Given the description of an element on the screen output the (x, y) to click on. 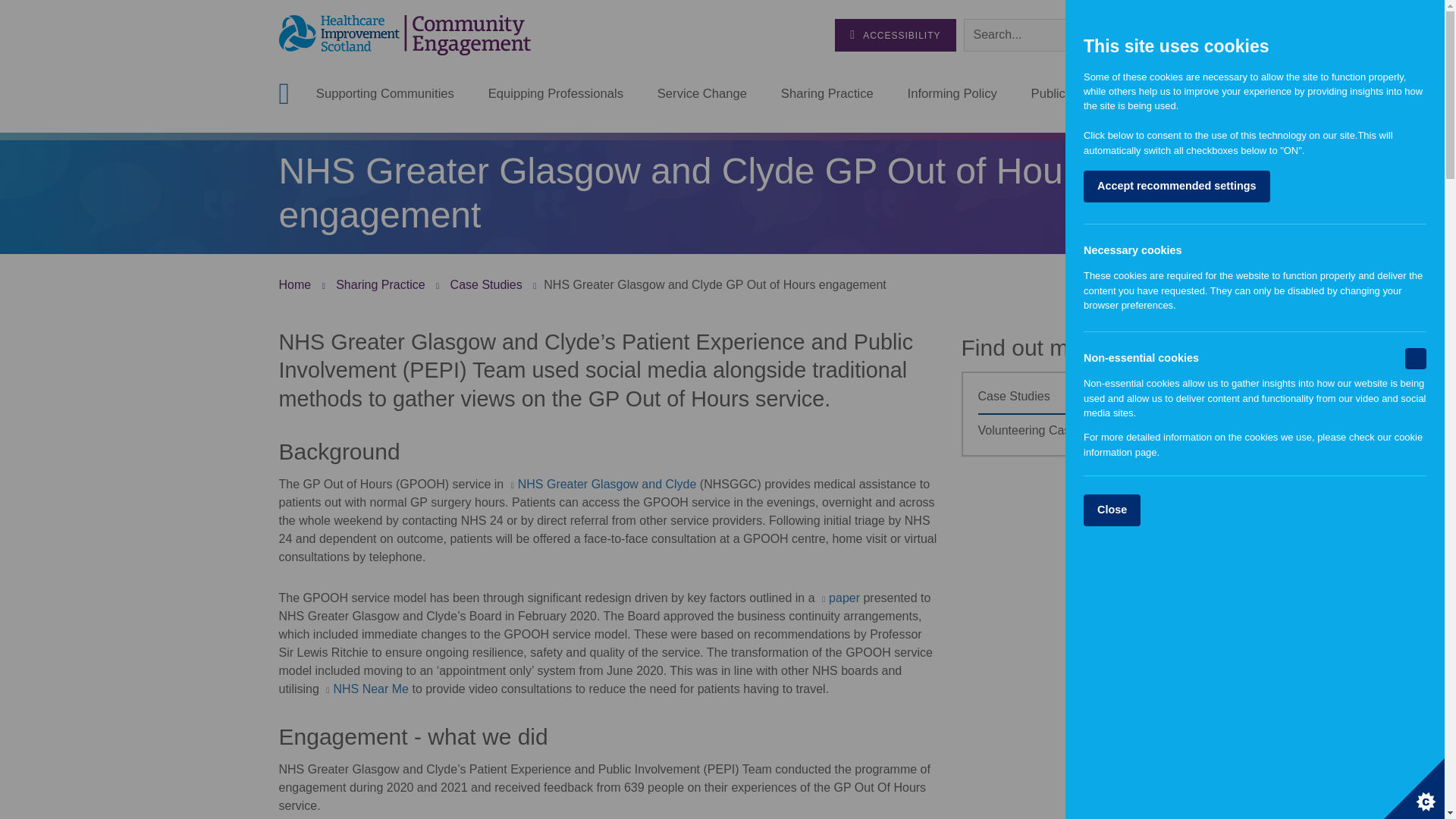
Link opens in a new window (365, 688)
Informing Policy (952, 93)
Supporting Communities (384, 93)
Link opens in a new window (839, 597)
Search (1150, 34)
Sharing Practice (826, 93)
Equipping Professionals (555, 93)
Link opens in a new window (601, 483)
Service Change (702, 93)
ACCESSIBILITY (894, 34)
